Given the description of an element on the screen output the (x, y) to click on. 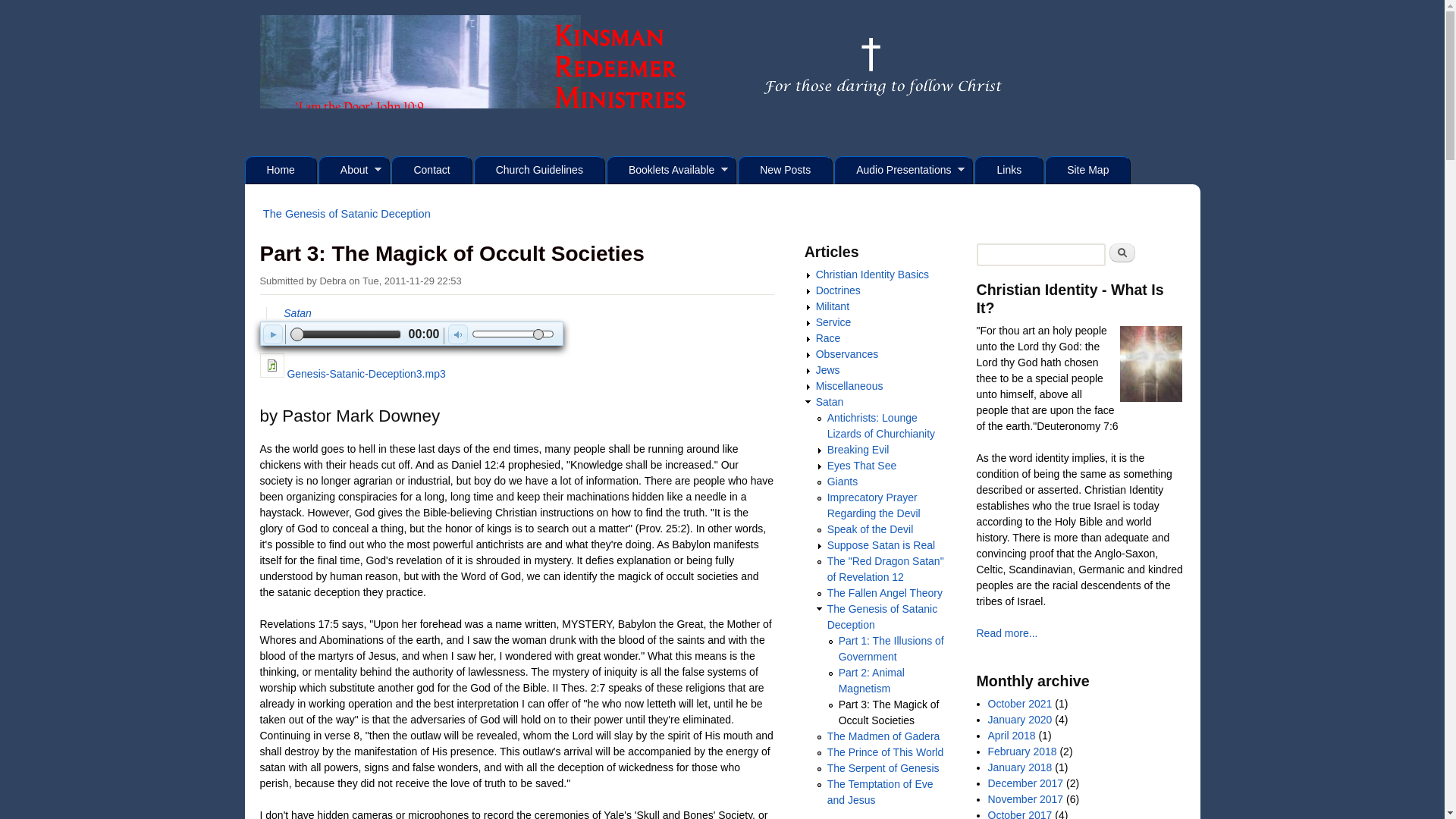
Church Guidelines (539, 170)
Contact (431, 170)
Mute (457, 333)
Search (1122, 252)
Site Map (1088, 170)
Satan (297, 313)
The Genesis of Satanic Deception (346, 213)
Home (279, 170)
New Posts (785, 170)
Play (272, 333)
Links (1008, 170)
